Given the description of an element on the screen output the (x, y) to click on. 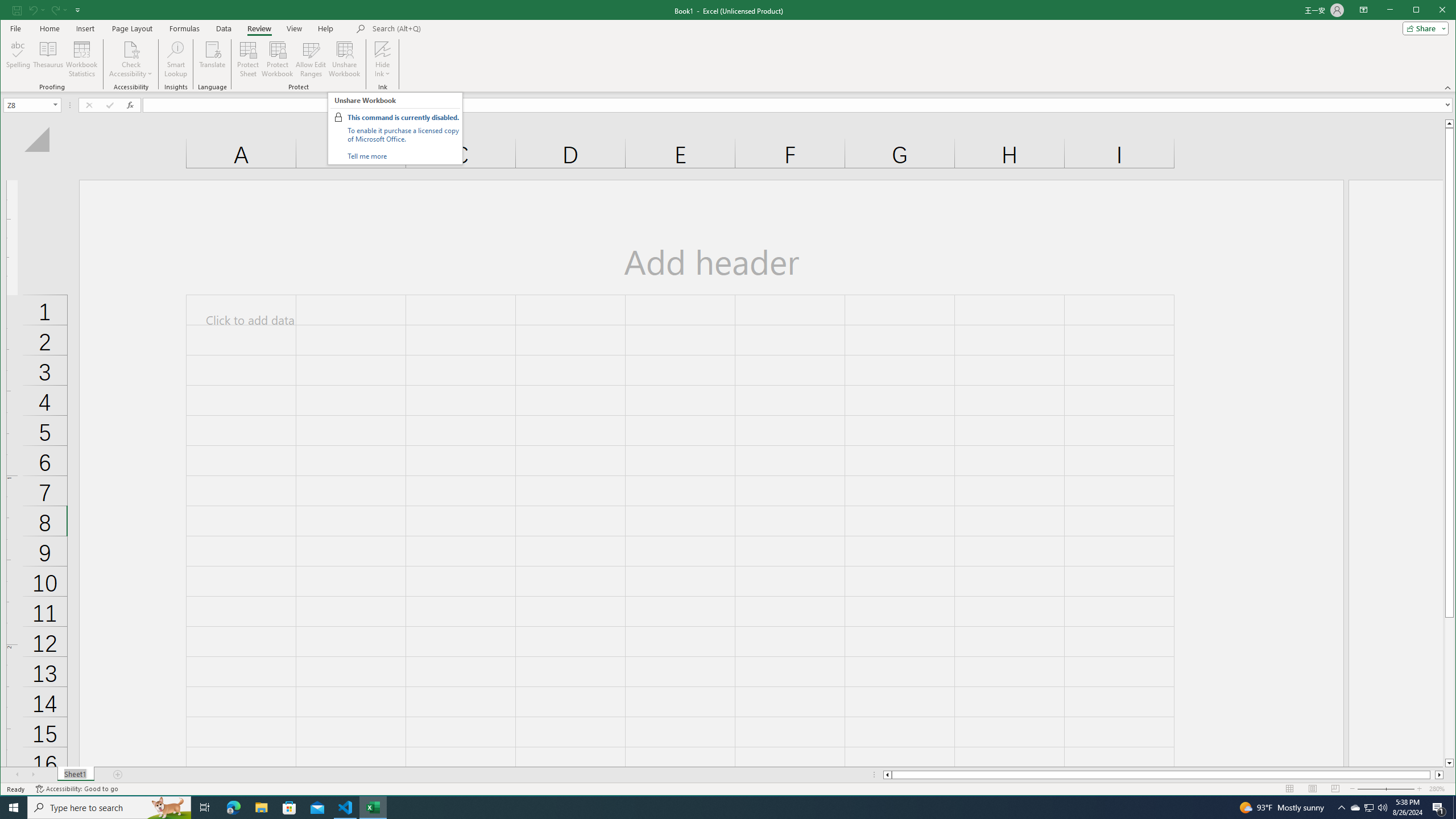
Type here to search (108, 807)
Start (13, 807)
This command is currently disabled. (403, 117)
Maximize (1432, 11)
